Given the description of an element on the screen output the (x, y) to click on. 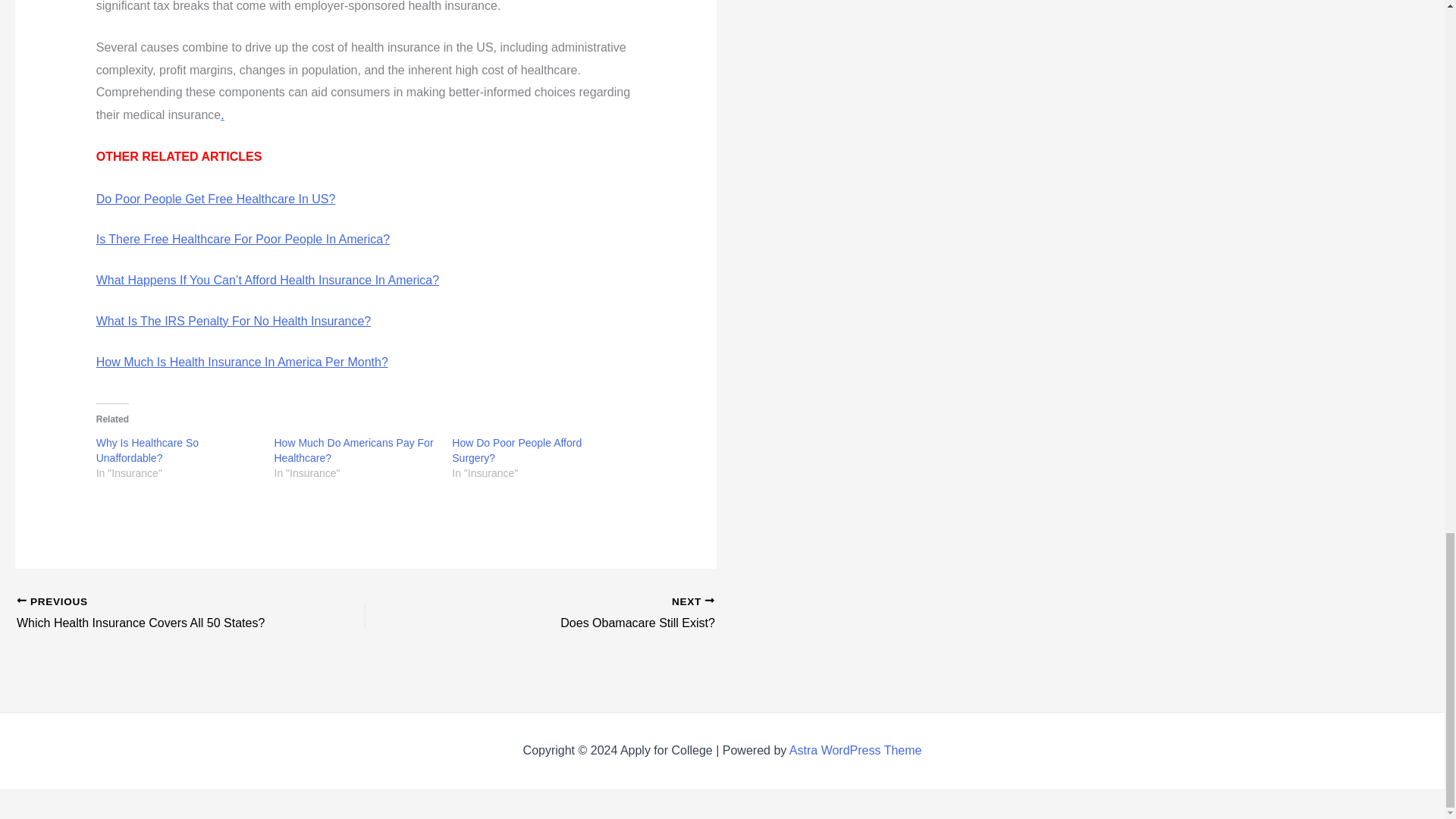
Which Health Insurance Covers All 50 States? (156, 613)
How Much Do Americans Pay For Healthcare? (573, 613)
Is There Free Healthcare For Poor People In America? (354, 450)
Why Is Healthcare So Unaffordable? (243, 238)
What Is The IRS Penalty For No Health Insurance? (147, 450)
Astra WordPress Theme (233, 320)
Does Obamacare Still Exist? (855, 749)
How Much Do Americans Pay For Healthcare? (573, 613)
How Much Is Health Insurance In America Per Month? (354, 450)
How Do Poor People Afford Surgery? (242, 361)
. (515, 450)
How Do Poor People Afford Surgery? (222, 114)
Do Poor People Get Free Healthcare In US? (156, 613)
